Given the description of an element on the screen output the (x, y) to click on. 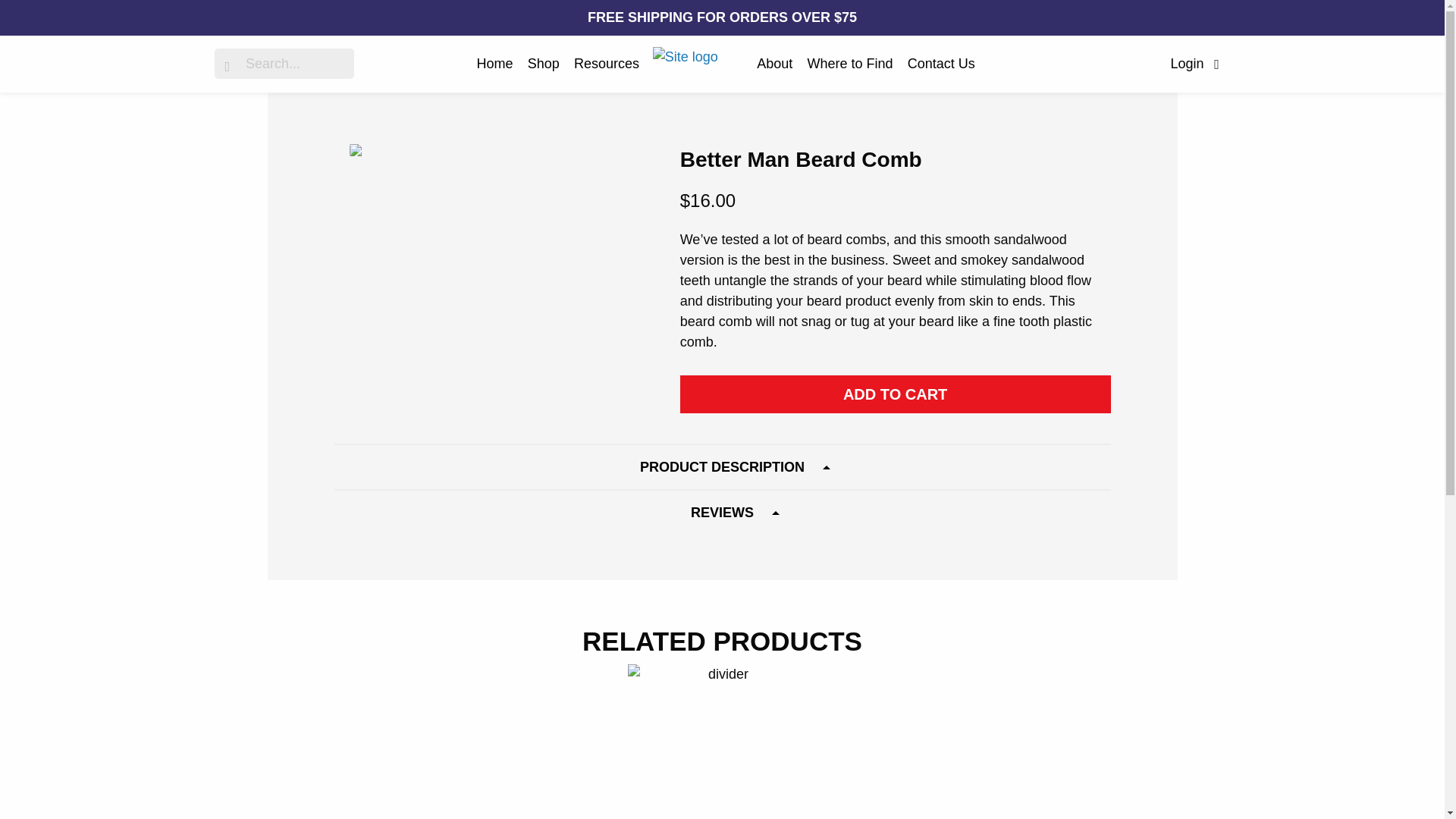
Home (495, 63)
About (774, 63)
Resources (606, 63)
Shop (543, 63)
